Given the description of an element on the screen output the (x, y) to click on. 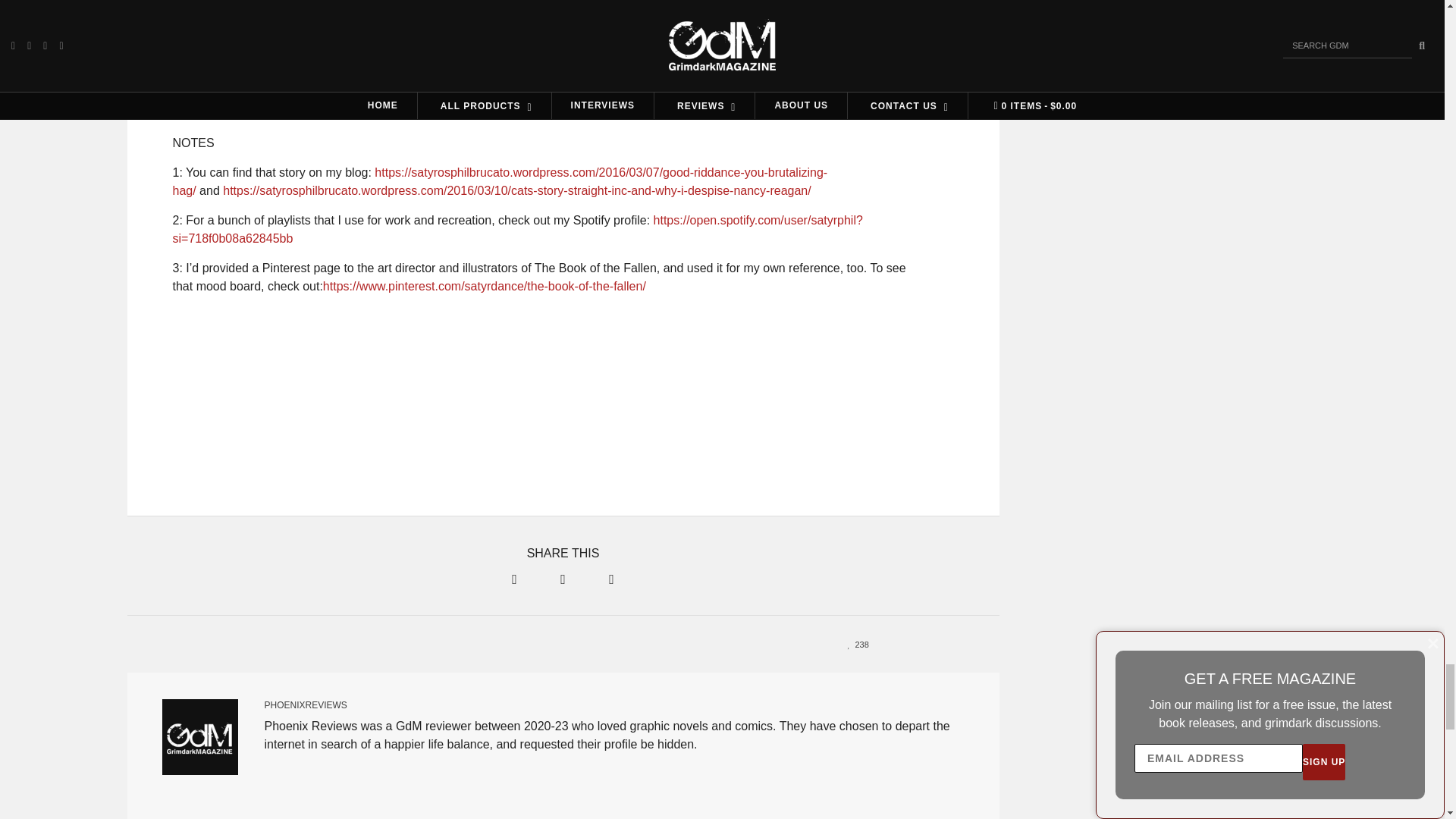
Like (853, 643)
Patreon Widget (563, 401)
